Given the description of an element on the screen output the (x, y) to click on. 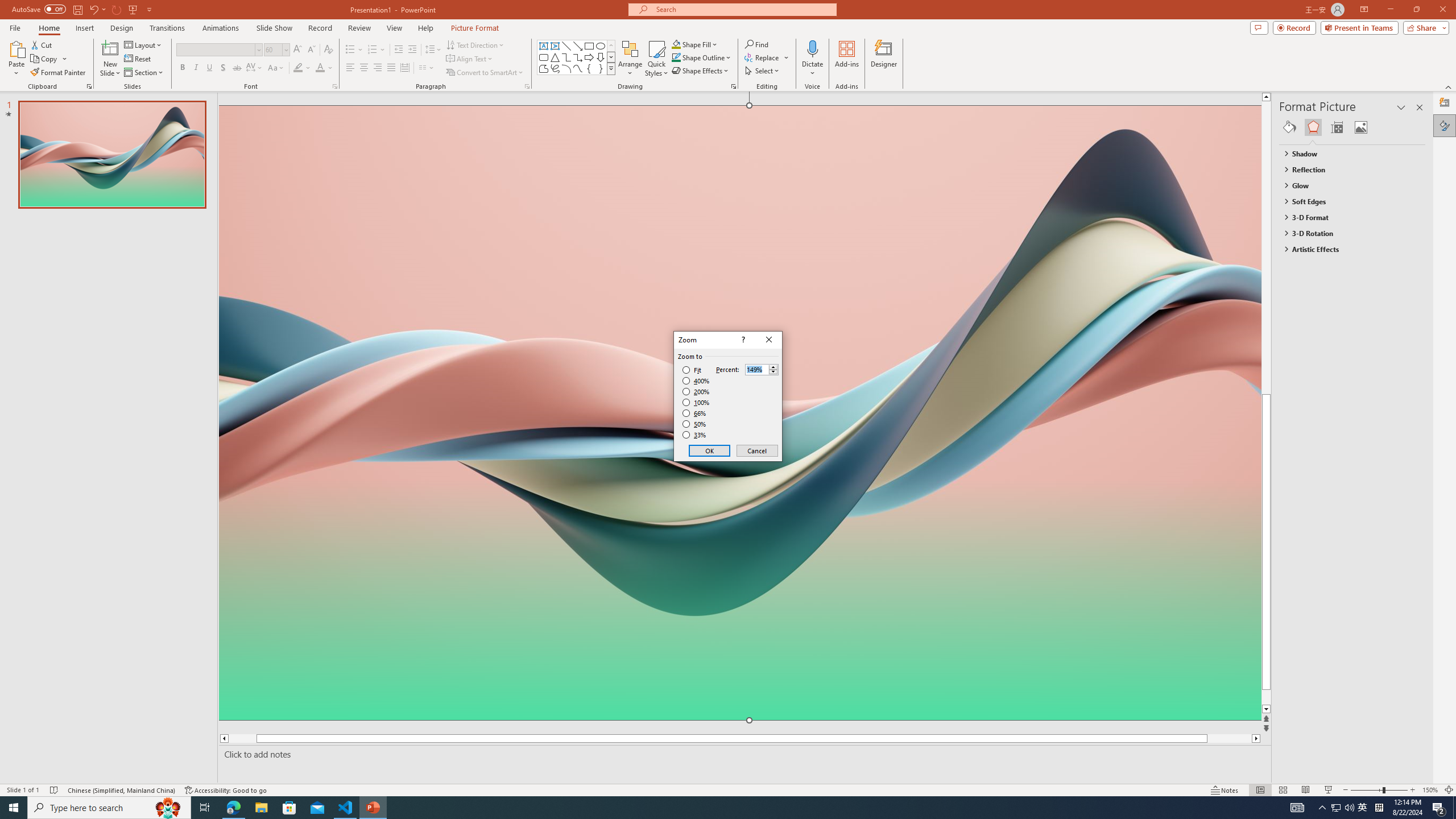
Quick Styles (656, 58)
Distributed (404, 67)
Right Brace (600, 68)
Notes  (1225, 790)
Shadow (223, 67)
Bullets (354, 49)
Numbering (376, 49)
Cut (42, 44)
Vertical Text Box (554, 45)
Fill & Line (1288, 126)
